Given the description of an element on the screen output the (x, y) to click on. 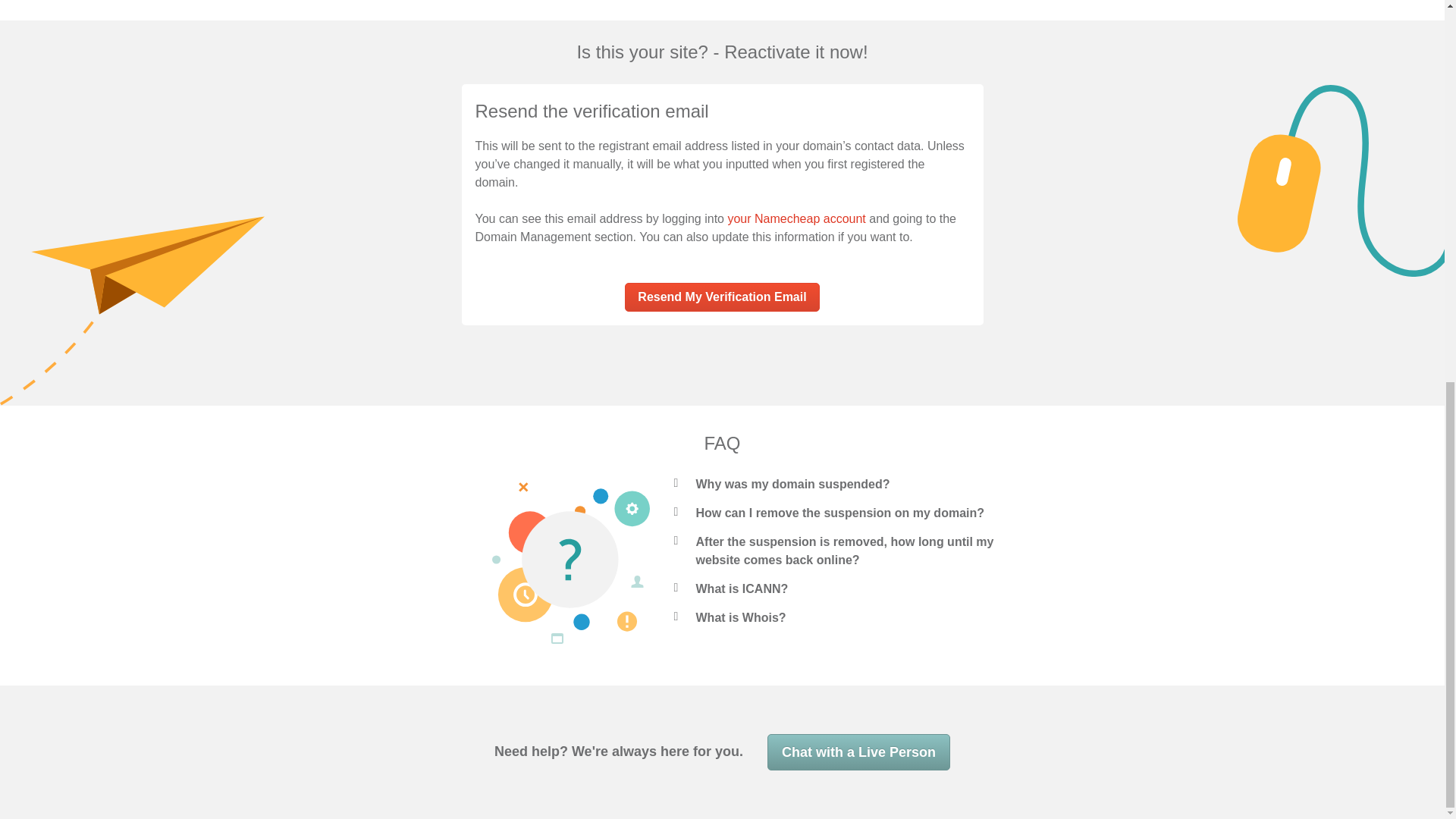
Chat with a Live Person (858, 751)
Resend My Verification Email (721, 297)
your Namecheap account (795, 218)
